Given the description of an element on the screen output the (x, y) to click on. 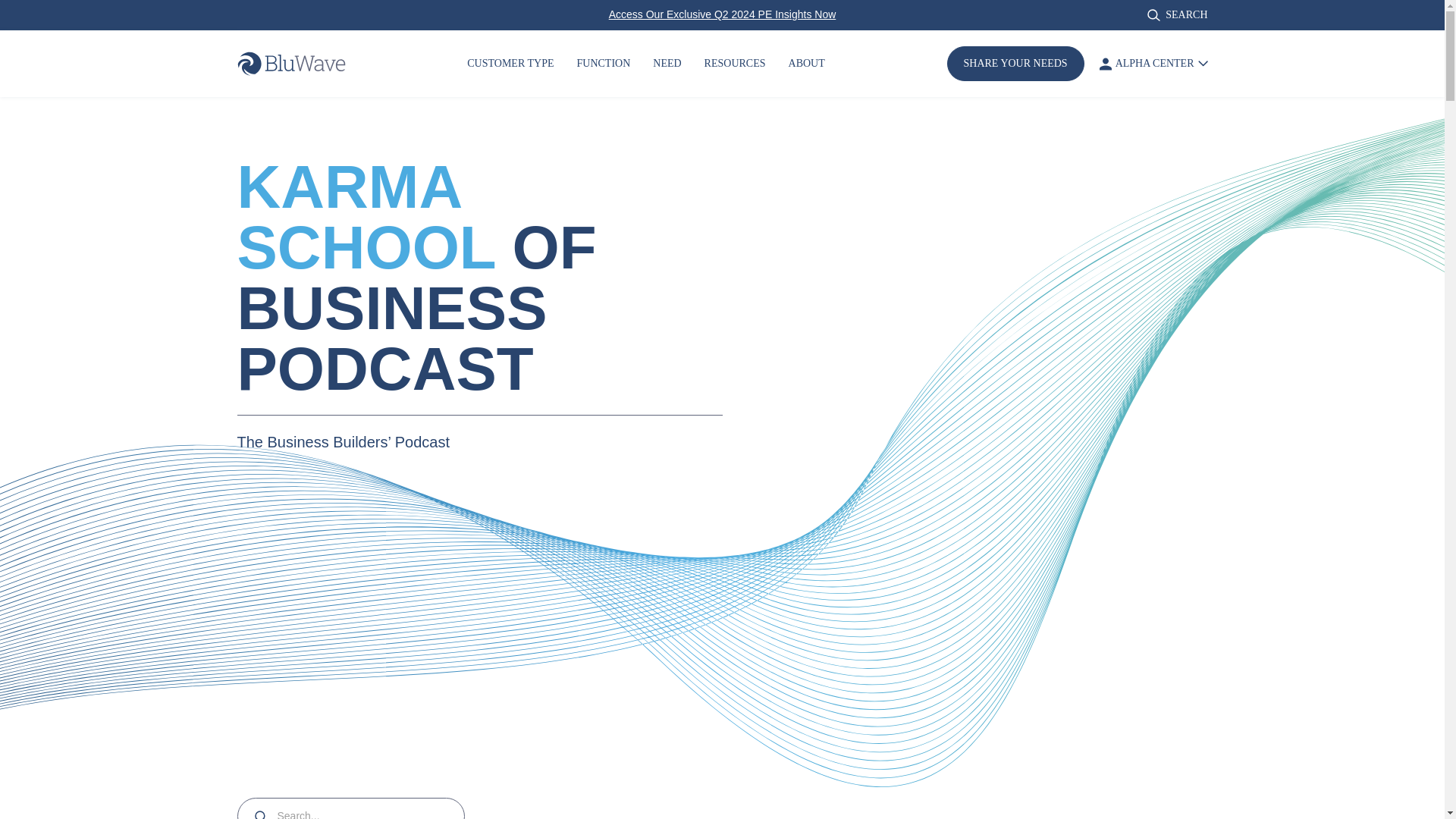
Access Our Exclusive Q2 2024 PE Insights Now (721, 14)
CUSTOMER TYPE (510, 63)
RESOURCES (734, 63)
